Given the description of an element on the screen output the (x, y) to click on. 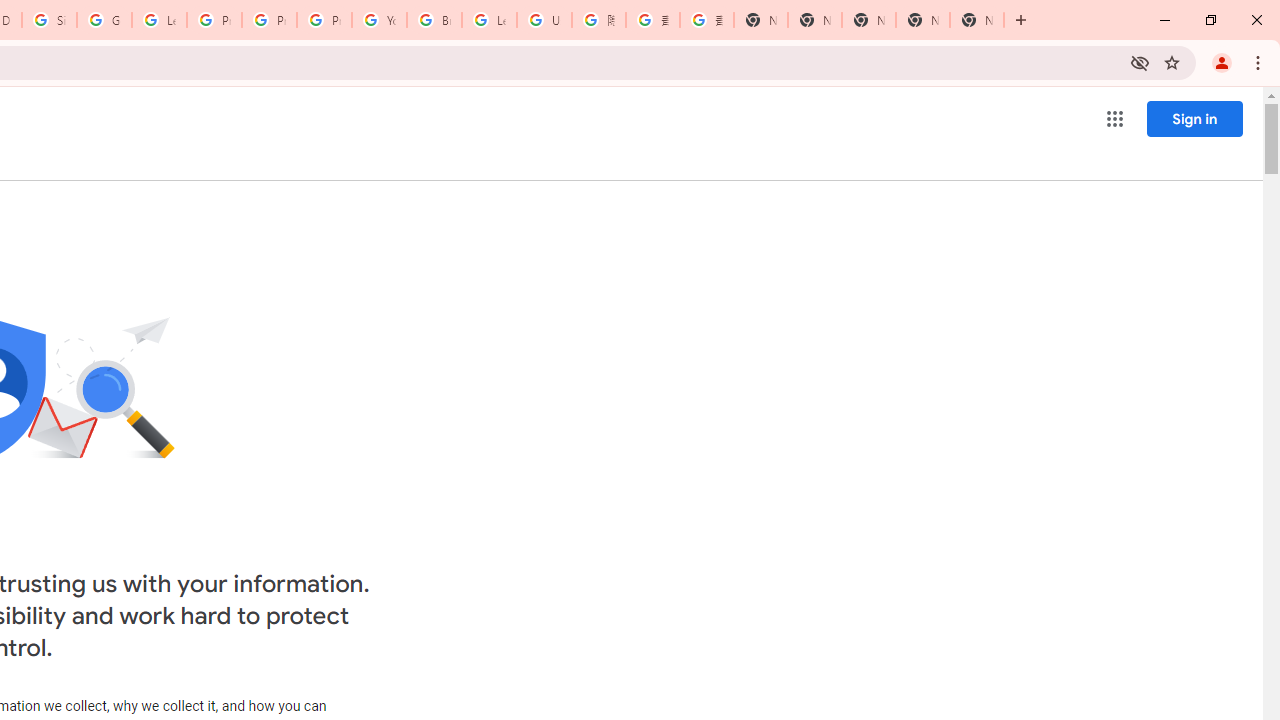
YouTube (379, 20)
Privacy Help Center - Policies Help (213, 20)
Sign in - Google Accounts (48, 20)
